Given the description of an element on the screen output the (x, y) to click on. 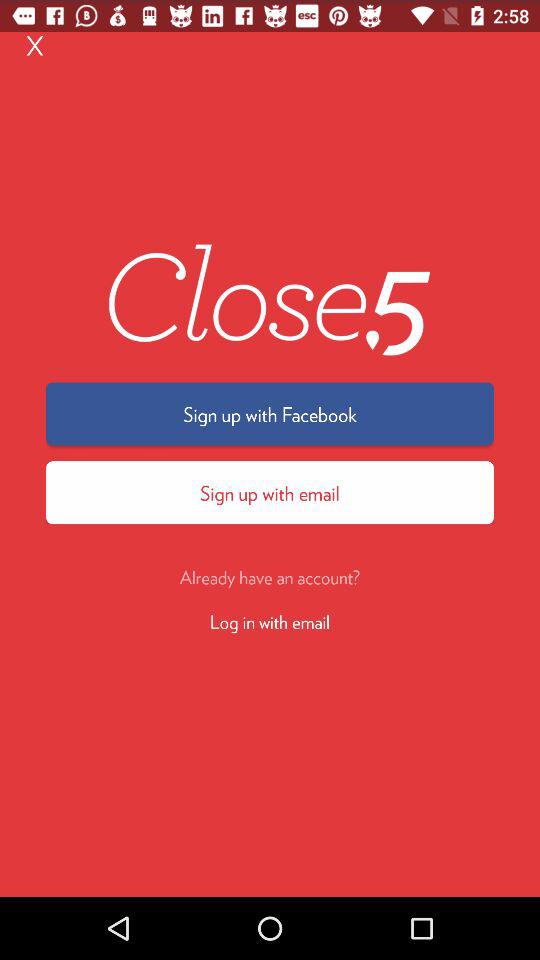
scroll to the log in with (269, 620)
